Given the description of an element on the screen output the (x, y) to click on. 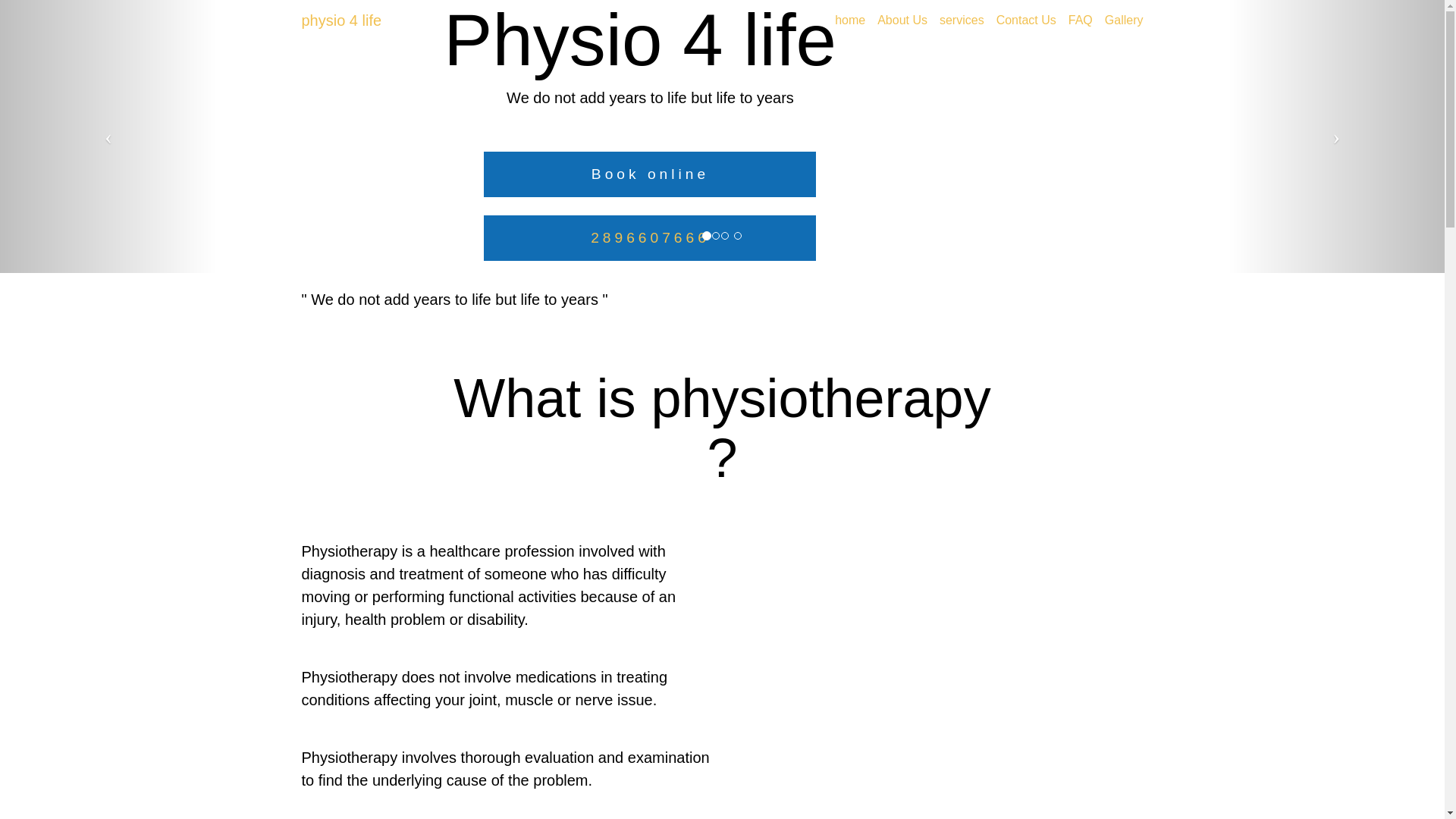
home (849, 20)
Contact Us (1026, 20)
About Us (902, 20)
Gallery (1123, 20)
physio 4 life (341, 20)
services (961, 20)
Book online (650, 173)
2896607666 (650, 237)
